Given the description of an element on the screen output the (x, y) to click on. 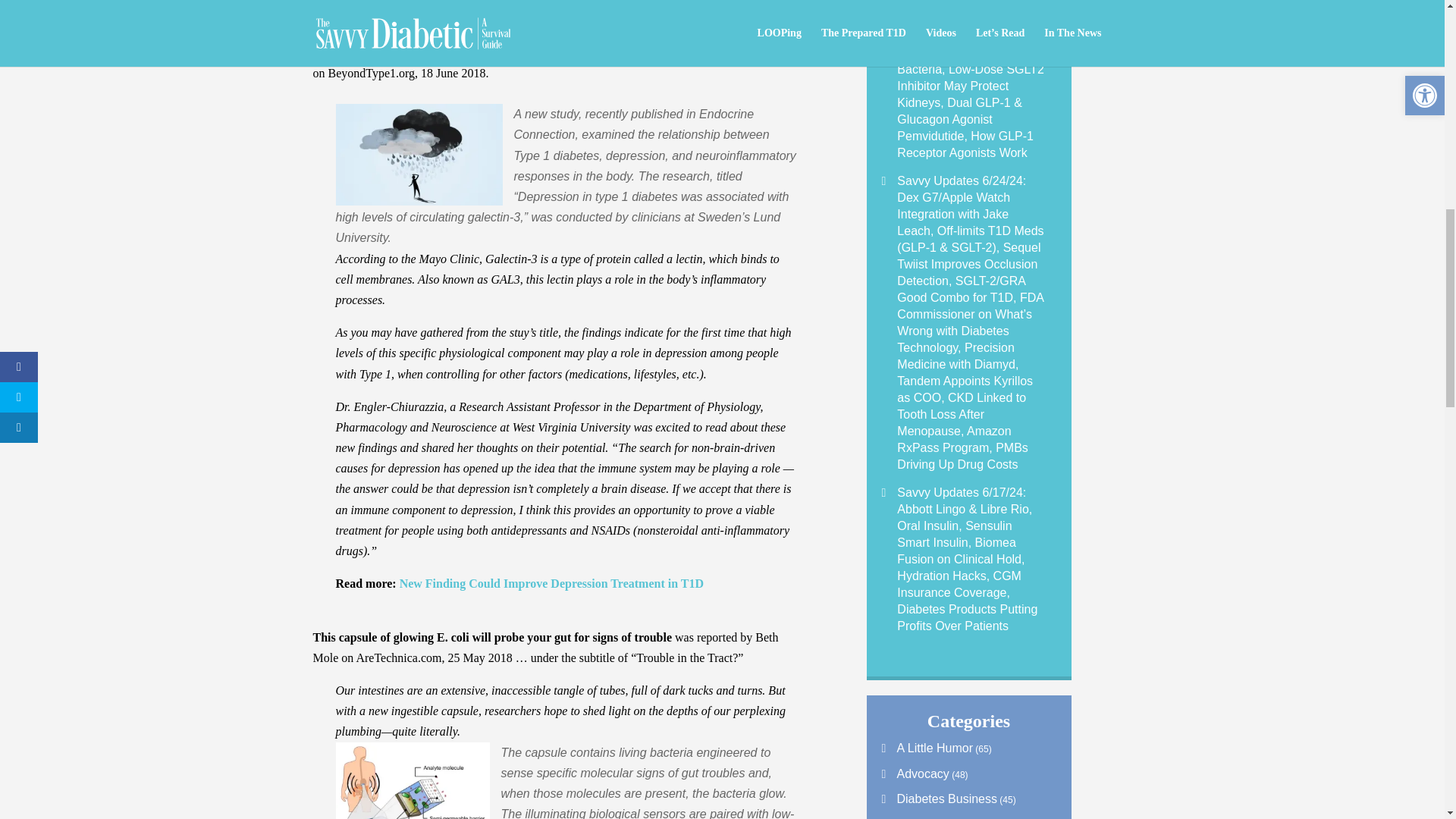
New Finding Could Improve Depression Treatment in T1D (550, 583)
